Given the description of an element on the screen output the (x, y) to click on. 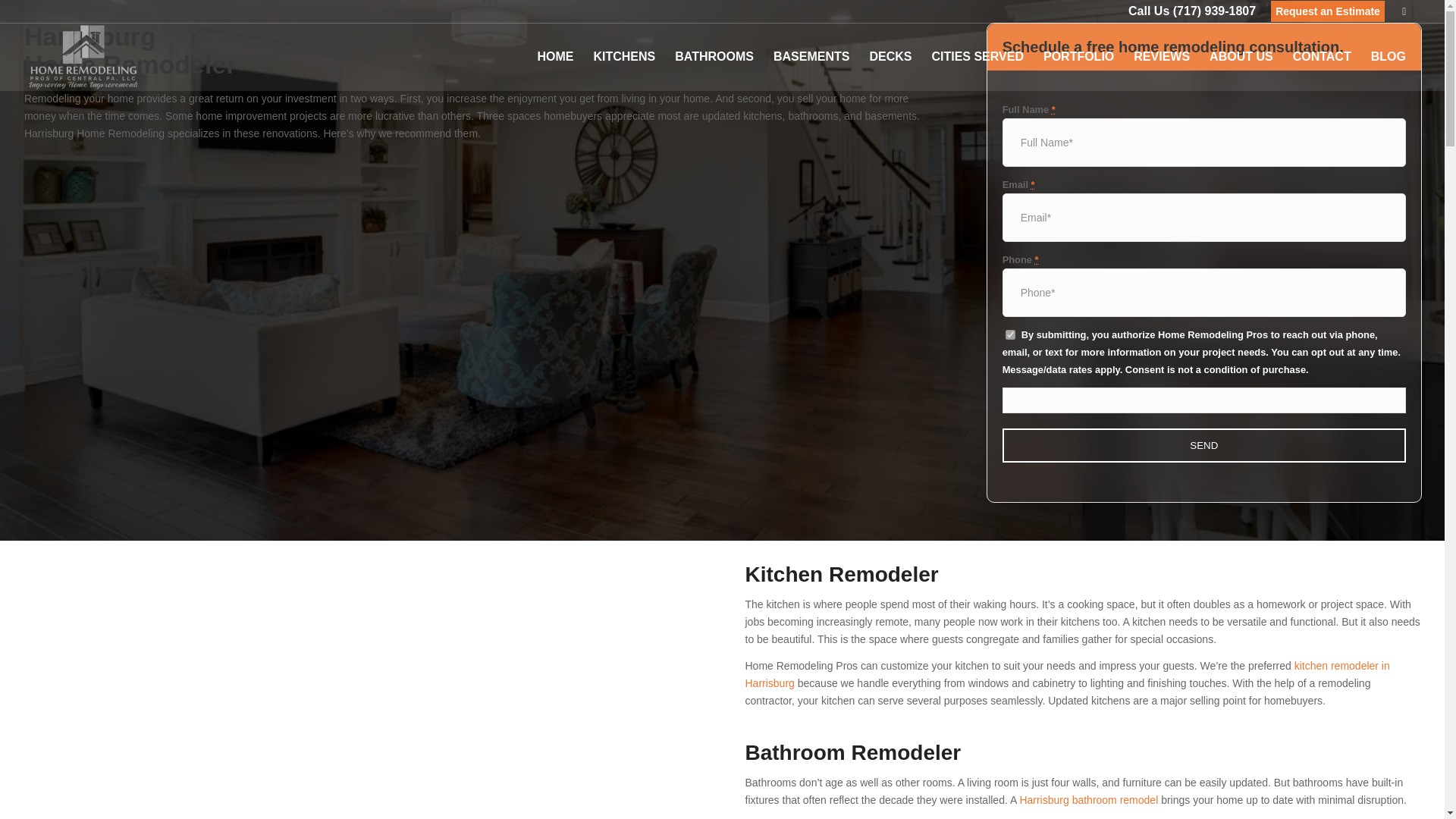
BATHROOMS (713, 56)
Request an Estimate (1327, 11)
BASEMENTS (810, 56)
CONTACT (1321, 56)
CITIES SERVED (977, 56)
logo-white-2b (91, 56)
SEND (1204, 445)
ABOUT US (1240, 56)
true (1010, 334)
Facebook (1404, 11)
PORTFOLIO (1078, 56)
REVIEWS (1161, 56)
KITCHENS (624, 56)
DECKS (890, 56)
Harrisburg bathroom remodel (1088, 799)
